Given the description of an element on the screen output the (x, y) to click on. 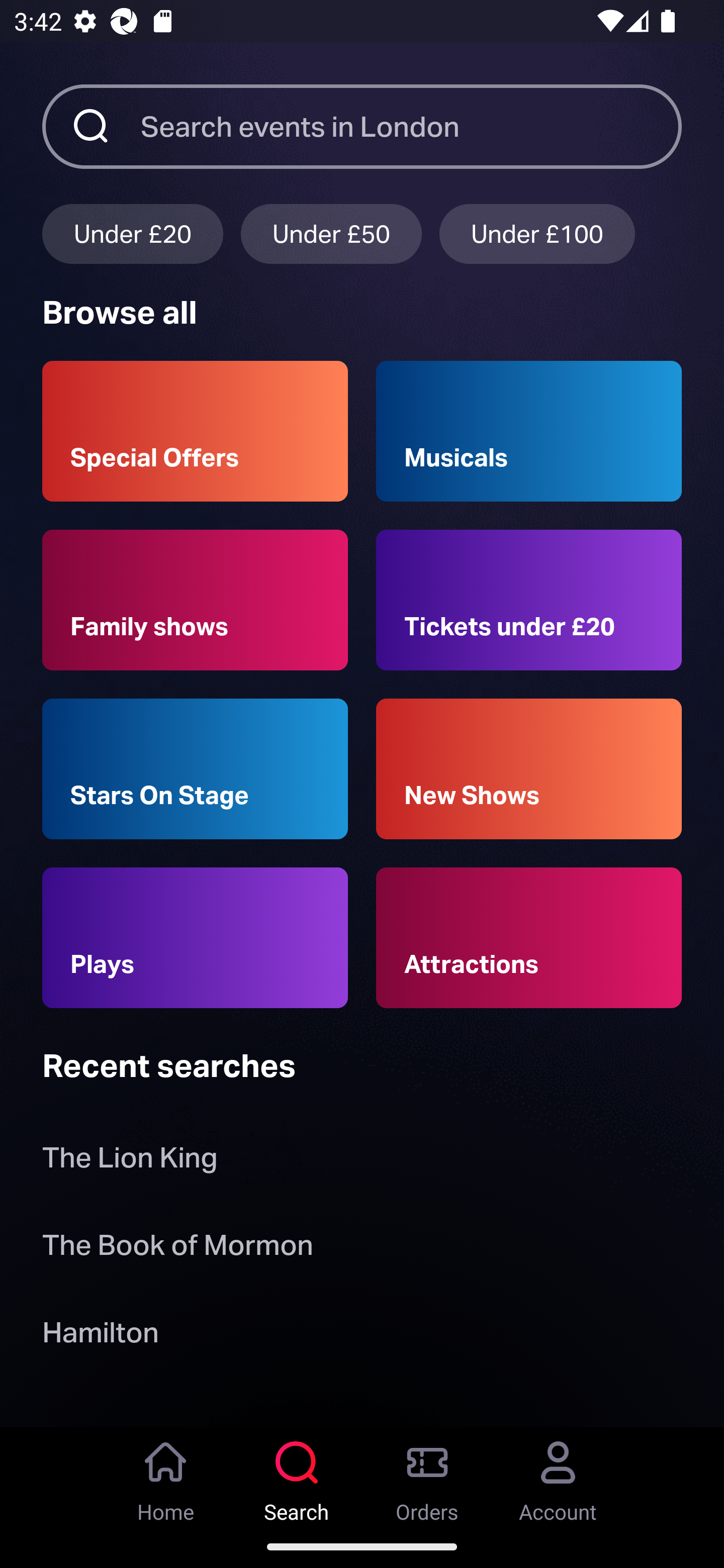
Search events in London (411, 126)
Under £20 (131, 233)
Under £50 (331, 233)
Under £100 (536, 233)
Special Offers (194, 430)
Musicals (528, 430)
Family shows (194, 600)
Tickets under £20  (528, 600)
Stars On Stage (194, 768)
New Shows (528, 768)
Plays (194, 937)
Attractions  (528, 937)
The Lion King (129, 1161)
The Book of Mormon (177, 1248)
Hamilton (99, 1335)
Home (165, 1475)
Orders (427, 1475)
Account (558, 1475)
